Given the description of an element on the screen output the (x, y) to click on. 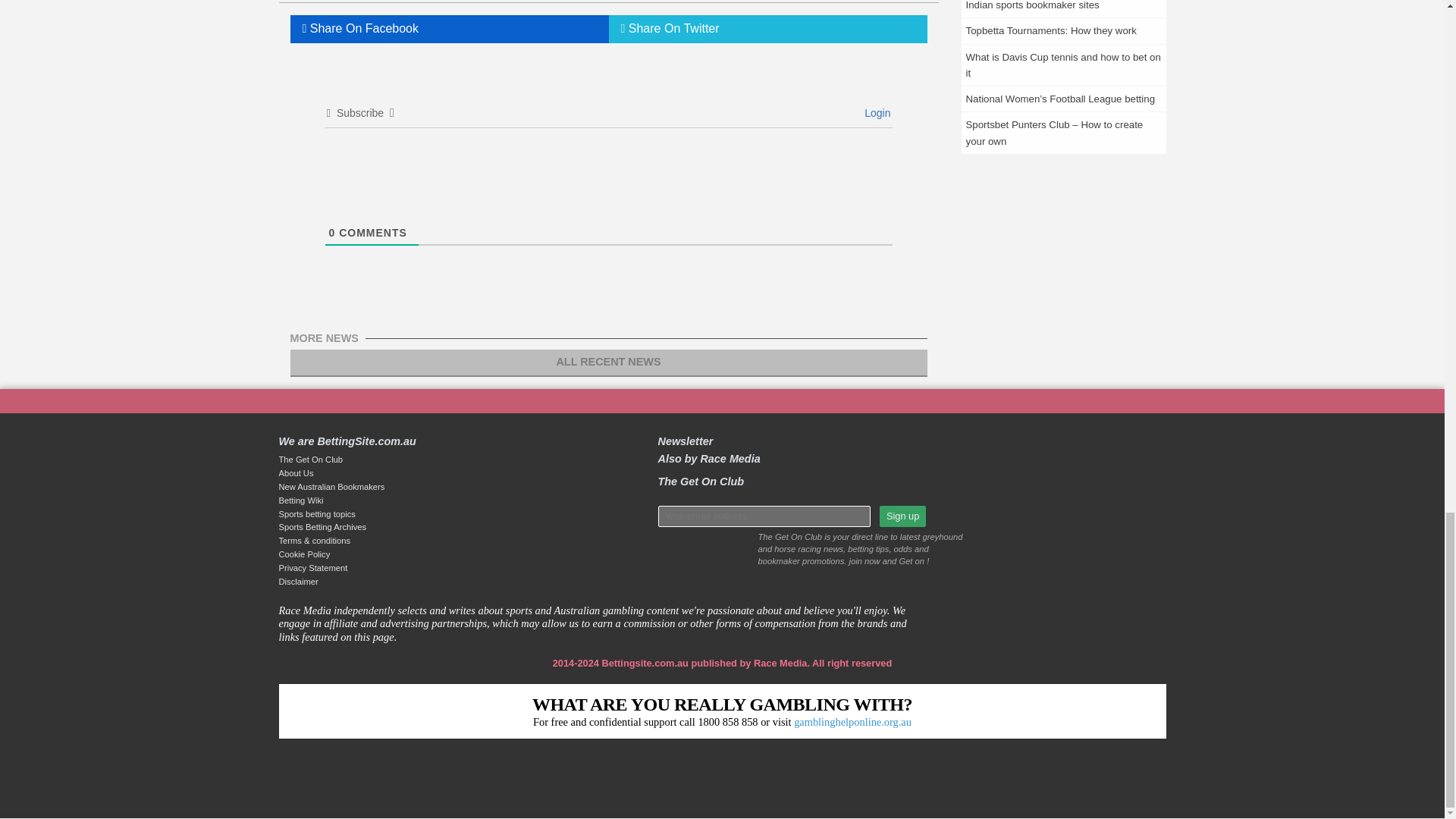
Share On Twitter (767, 29)
Sign up (902, 516)
Login (874, 112)
Share On Facebook (448, 29)
